Given the description of an element on the screen output the (x, y) to click on. 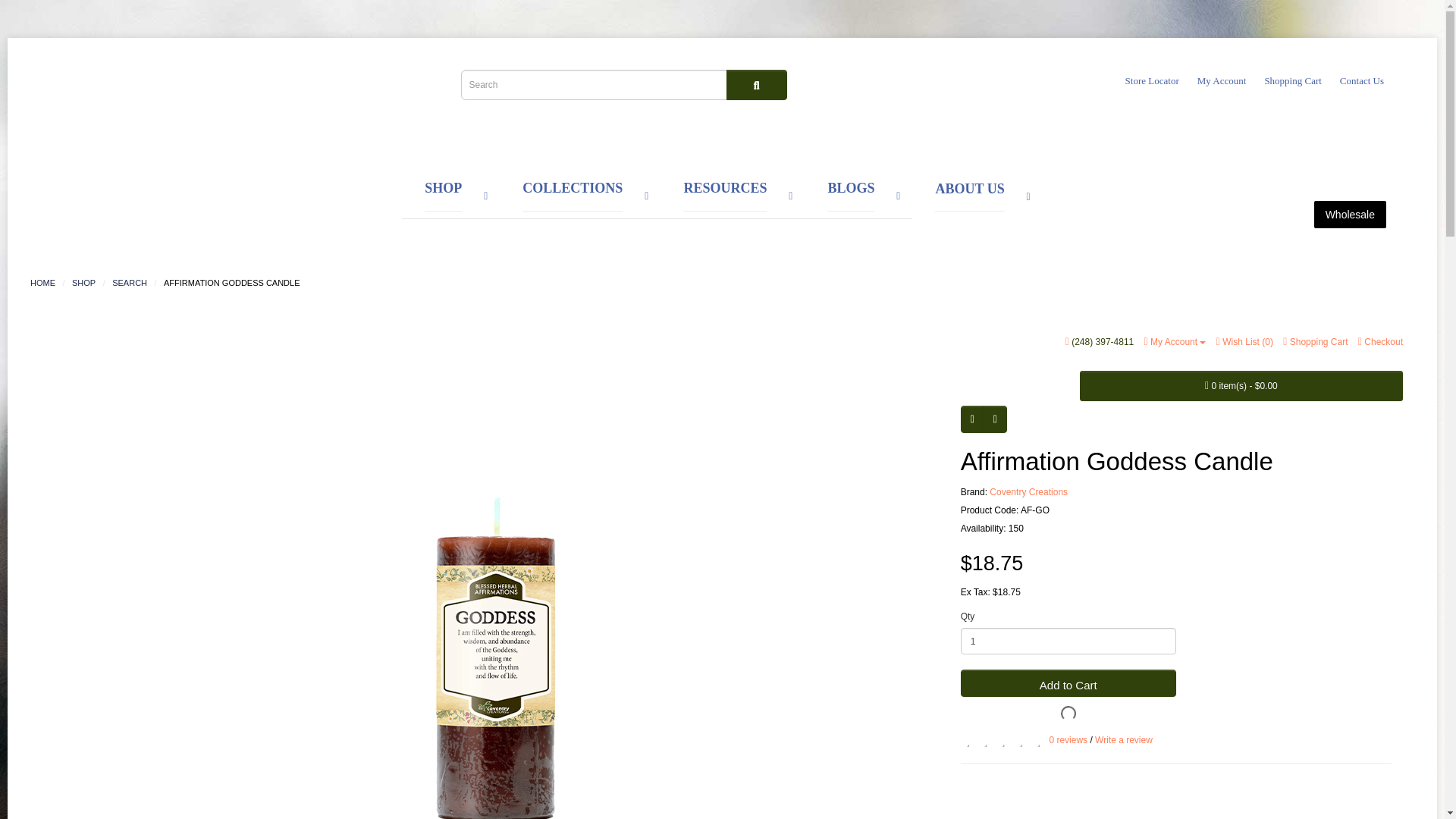
My Account (1221, 80)
Shopping Cart (1291, 80)
My Account (1175, 341)
1 (1068, 641)
Checkout (1380, 341)
Contact Us (1361, 80)
Store Locator (1152, 80)
Shopping Cart (1315, 341)
